Given the description of an element on the screen output the (x, y) to click on. 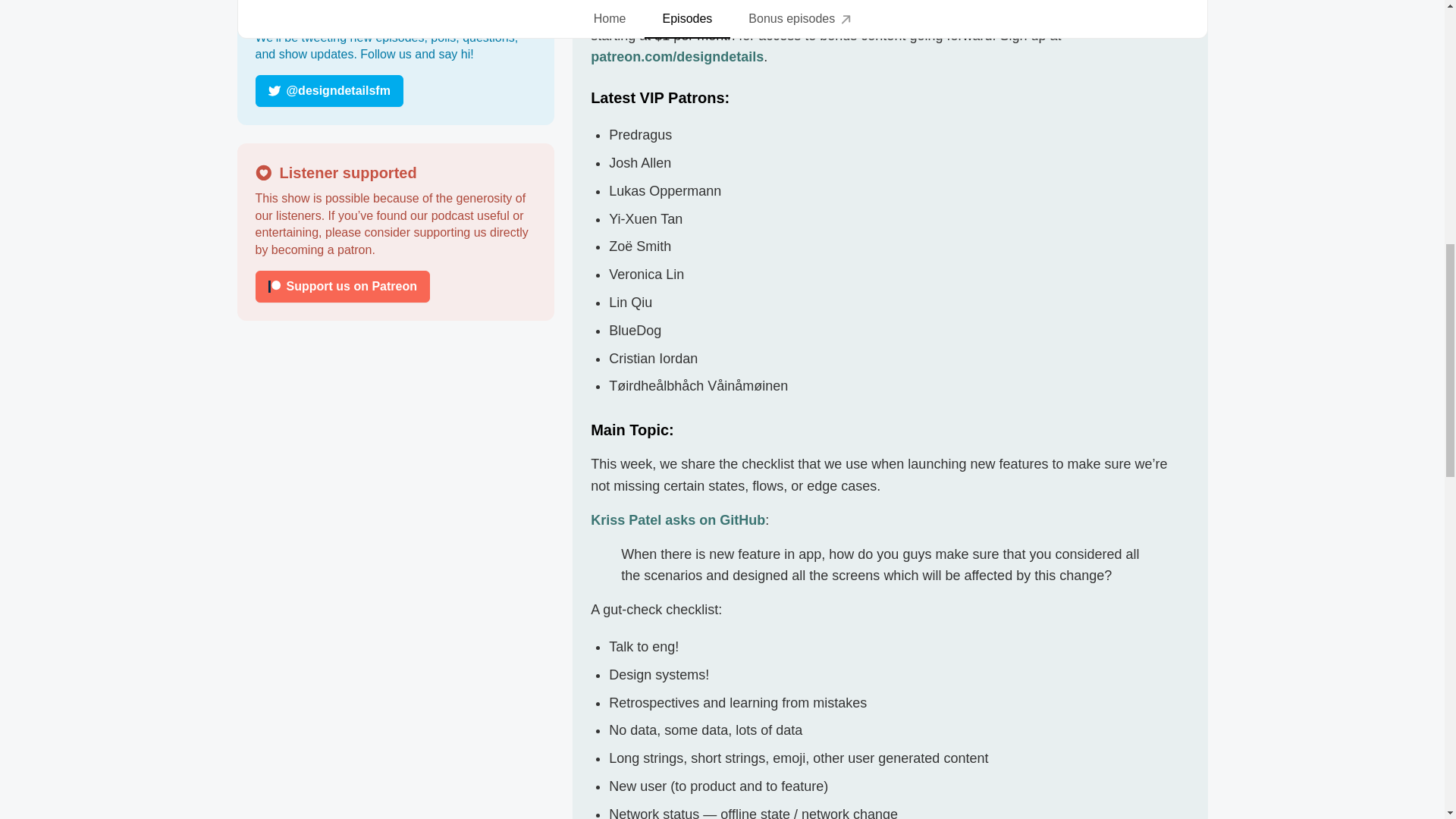
Kriss Patel asks on GitHub (678, 519)
Support us on Patreon (341, 286)
Support us on Patreon (394, 286)
